Given the description of an element on the screen output the (x, y) to click on. 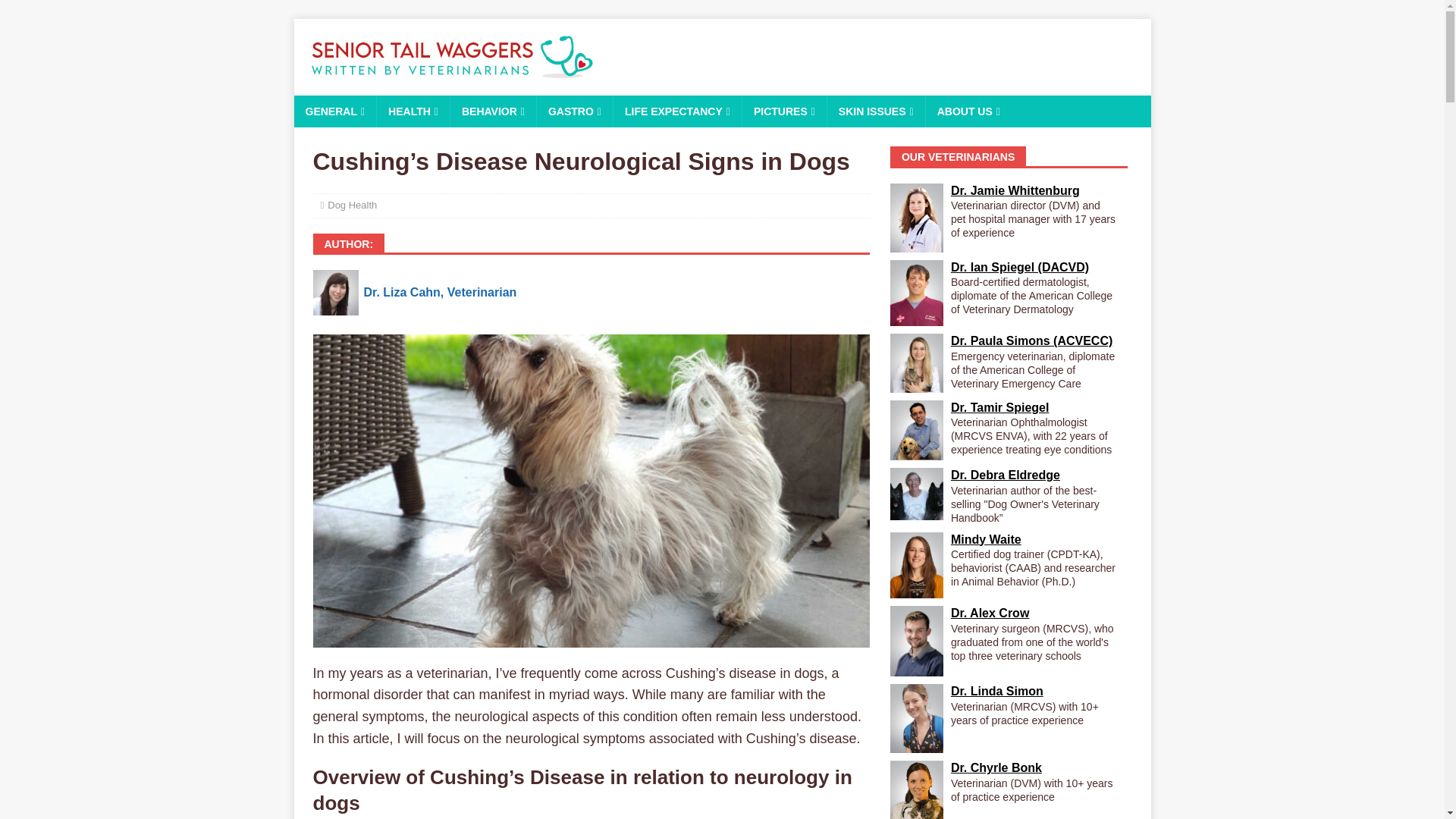
GENERAL (335, 111)
HEALTH (412, 111)
Dr. Liza Cahn, Veterinarian (440, 291)
